Given the description of an element on the screen output the (x, y) to click on. 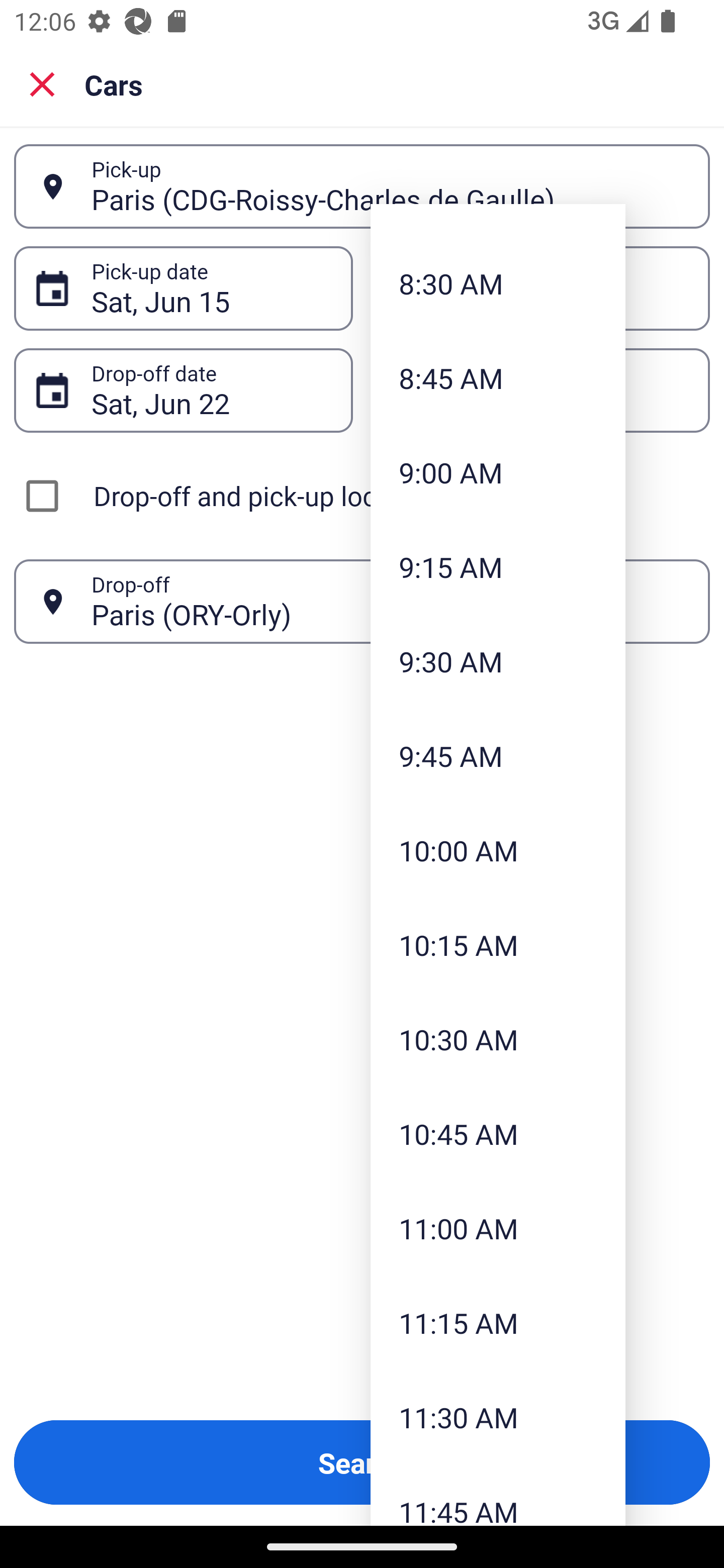
8:30 AM (497, 283)
8:45 AM (497, 377)
9:00 AM (497, 471)
9:15 AM (497, 566)
9:30 AM (497, 661)
9:45 AM (497, 755)
10:00 AM (497, 849)
10:15 AM (497, 944)
10:30 AM (497, 1039)
10:45 AM (497, 1133)
11:00 AM (497, 1227)
11:15 AM (497, 1322)
11:30 AM (497, 1417)
11:45 AM (497, 1494)
